Given the description of an element on the screen output the (x, y) to click on. 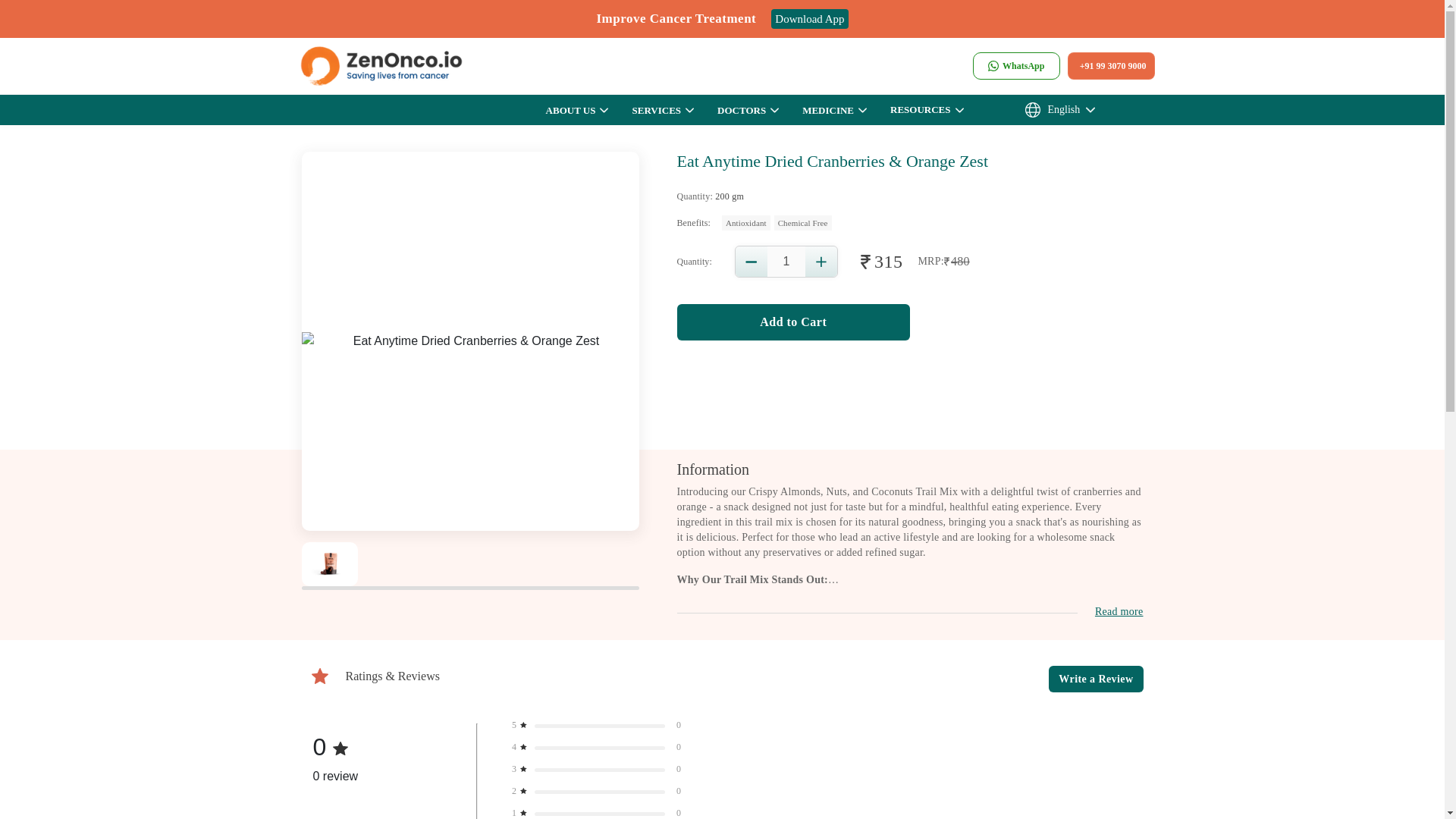
Chemical Free (802, 222)
Download App (801, 18)
WhatsApp (1015, 65)
Antioxidant (746, 222)
1 (786, 261)
Add to Cart (792, 321)
